Given the description of an element on the screen output the (x, y) to click on. 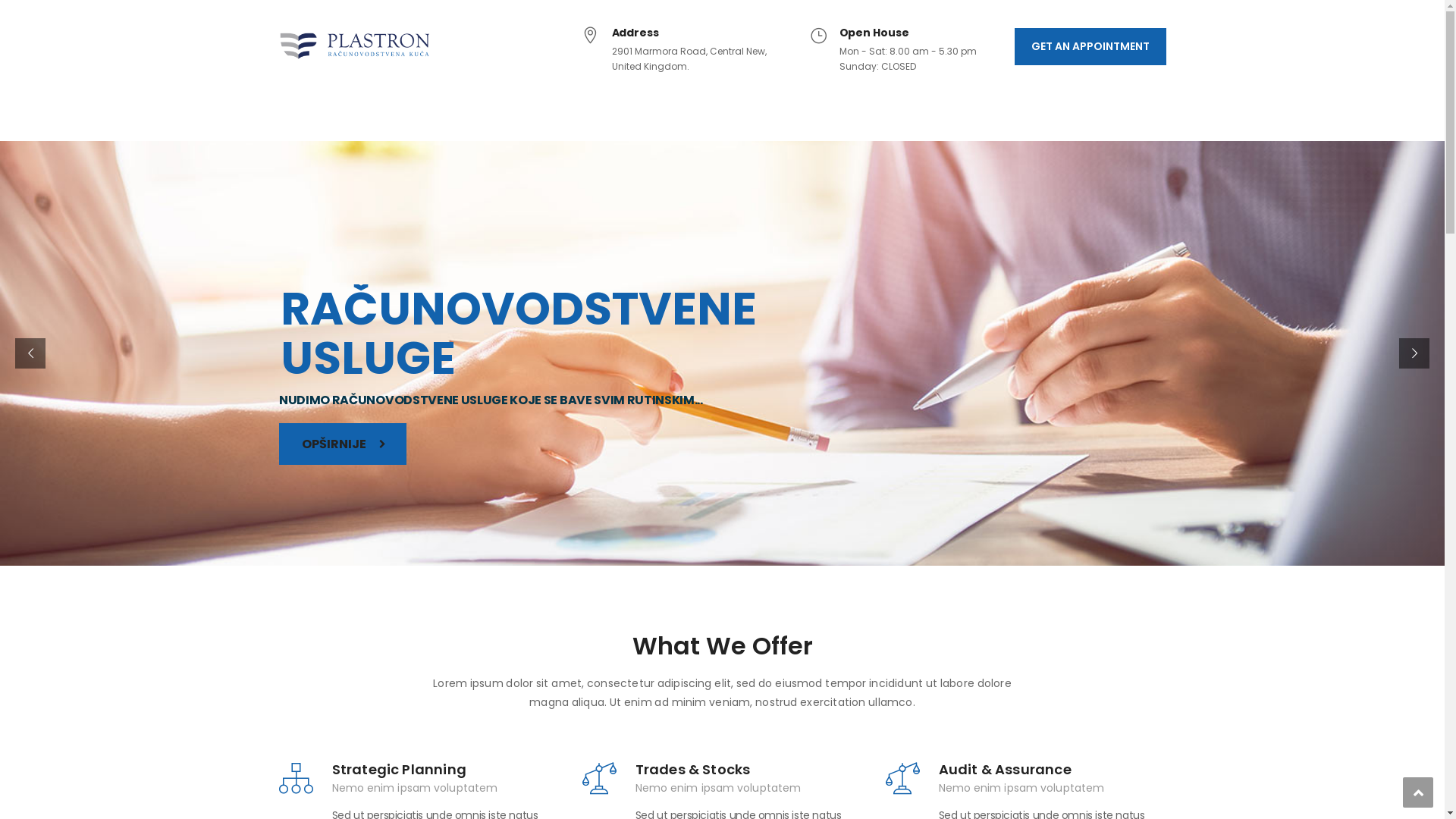
AKTUELNOSTI Element type: text (680, 116)
Strategic Planning Element type: text (399, 768)
Pretraga Element type: text (1144, 184)
REFERENCE Element type: text (473, 116)
Audit & Assurance Element type: text (1004, 768)
O NAMA Element type: text (385, 116)
GET AN APPOINTMENT Element type: text (1090, 46)
KONTAKT Element type: text (780, 116)
Trades & Stocks Element type: text (692, 768)
